Given the description of an element on the screen output the (x, y) to click on. 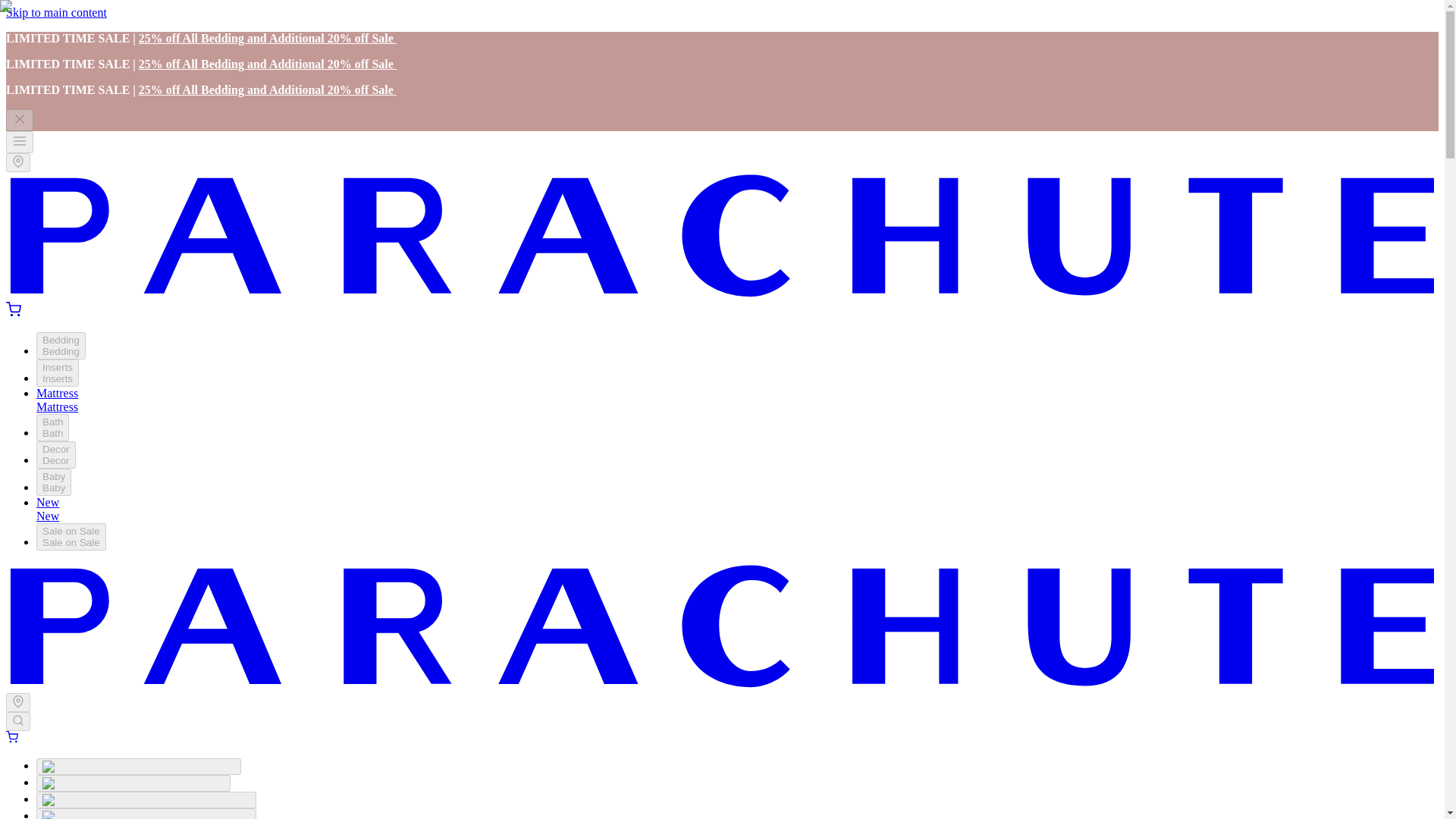
Search (17, 720)
Cart (11, 736)
Your Nearest Store (17, 701)
close (19, 118)
menu icon (19, 140)
close (53, 482)
Cart (19, 119)
menu icon (13, 309)
Your Nearest Store (19, 142)
close icon (52, 427)
Skip to main content (17, 161)
Your Nearest Store (19, 118)
